Given the description of an element on the screen output the (x, y) to click on. 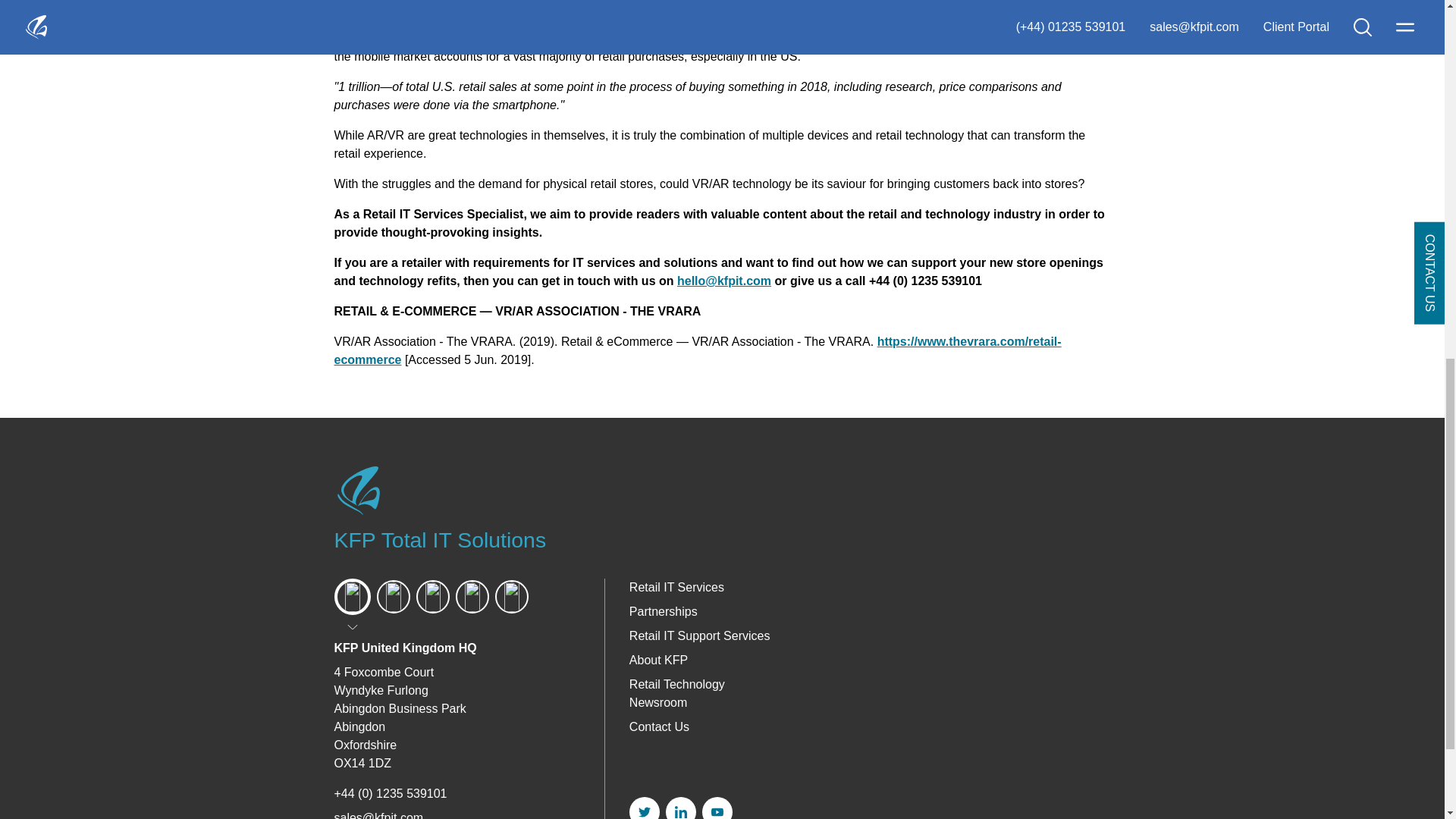
Contact Us (658, 726)
Wales (392, 596)
England (351, 596)
Retail IT Support Services (699, 635)
Partnerships (662, 611)
The Netherlands (470, 596)
Germany (511, 596)
Retail IT Services (675, 586)
About KFP (657, 659)
Ireland (431, 596)
